Given the description of an element on the screen output the (x, y) to click on. 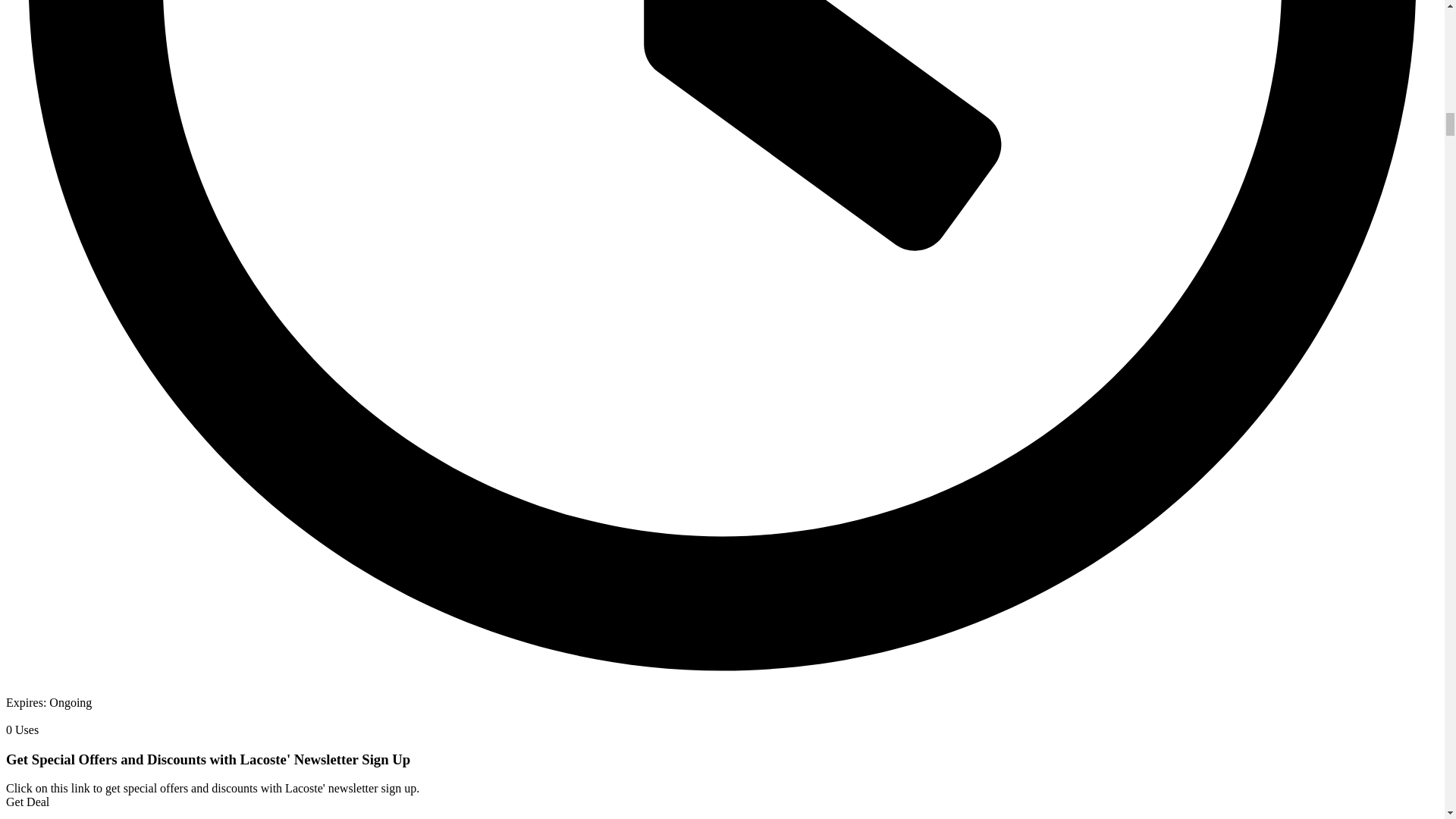
Get Deal (27, 801)
